Given the description of an element on the screen output the (x, y) to click on. 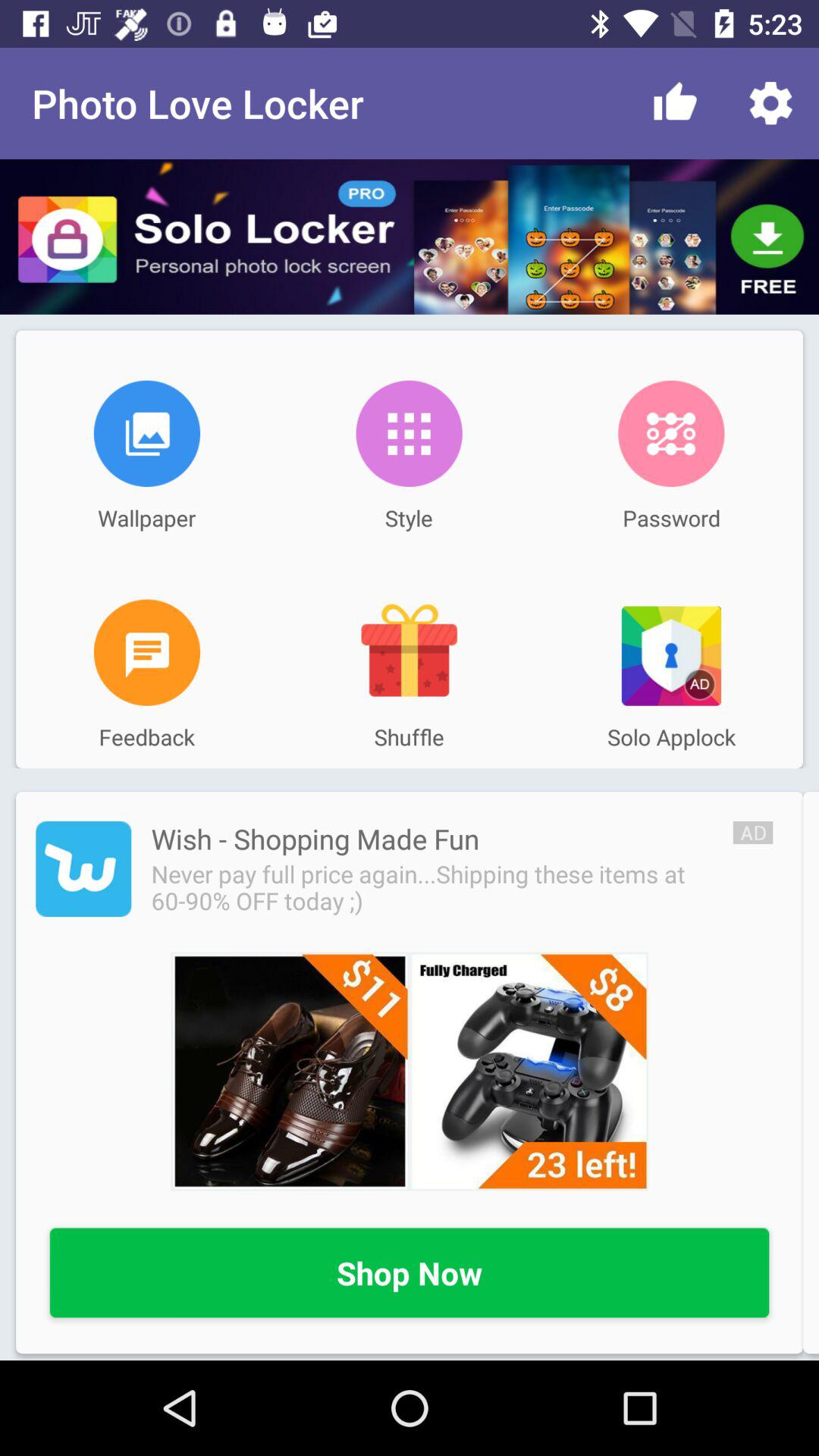
change wallpaper (146, 433)
